Given the description of an element on the screen output the (x, y) to click on. 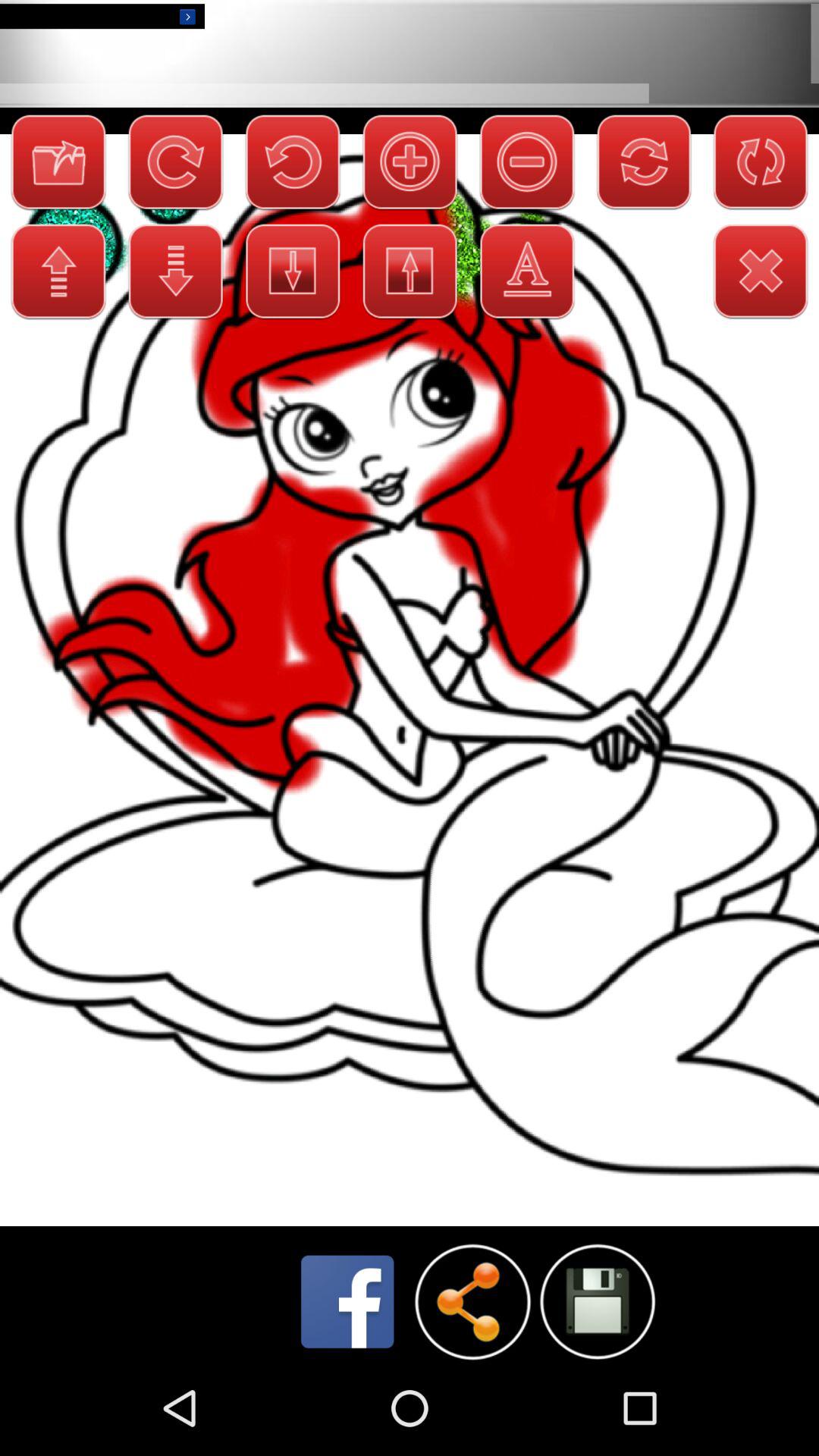
save image (597, 1301)
